Given the description of an element on the screen output the (x, y) to click on. 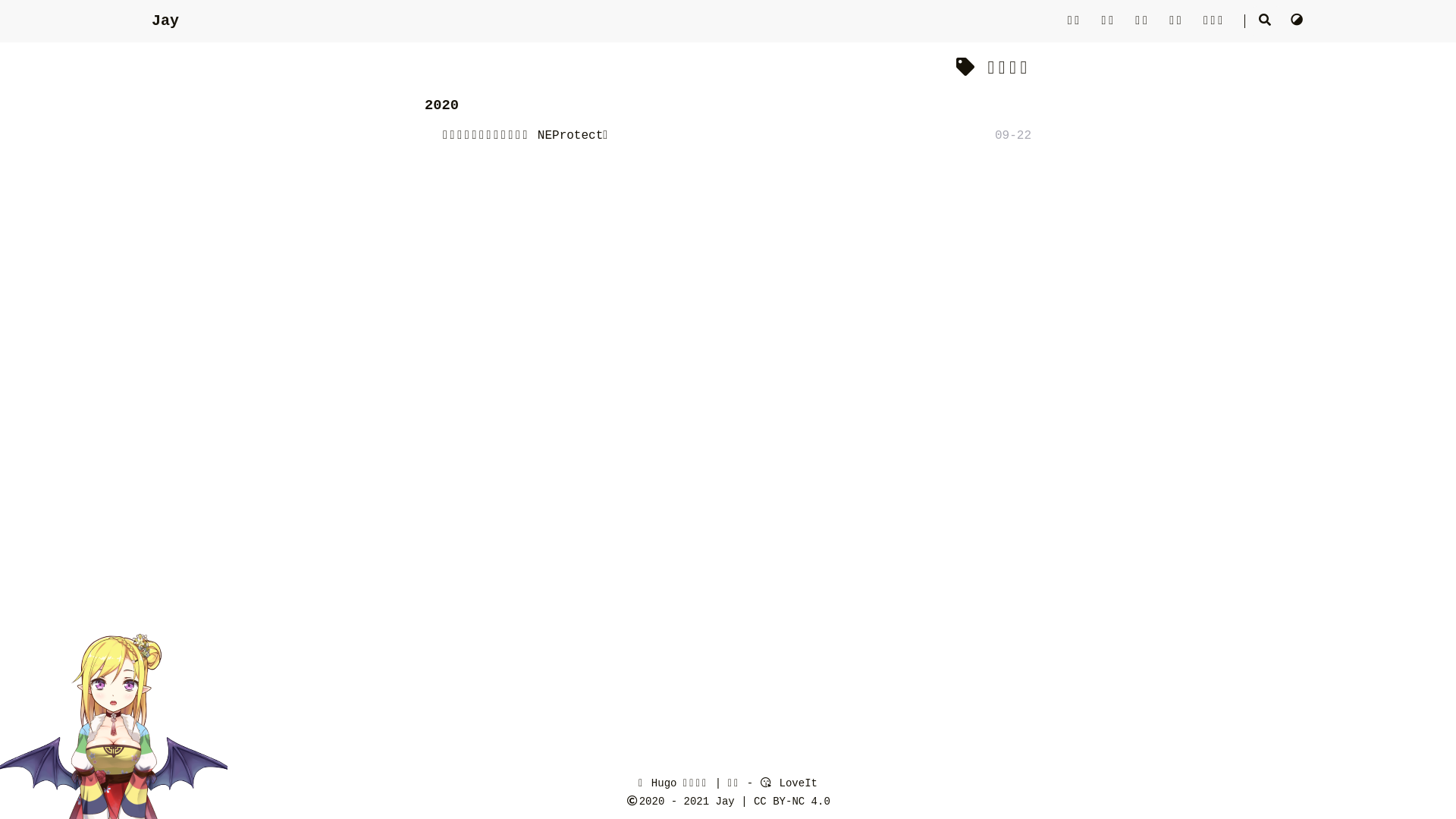
LoveIt Element type: text (788, 783)
Jay Element type: text (724, 801)
CC BY-NC 4.0 Element type: text (791, 801)
Jay Element type: text (164, 20)
Hugo Element type: text (664, 783)
